Given the description of an element on the screen output the (x, y) to click on. 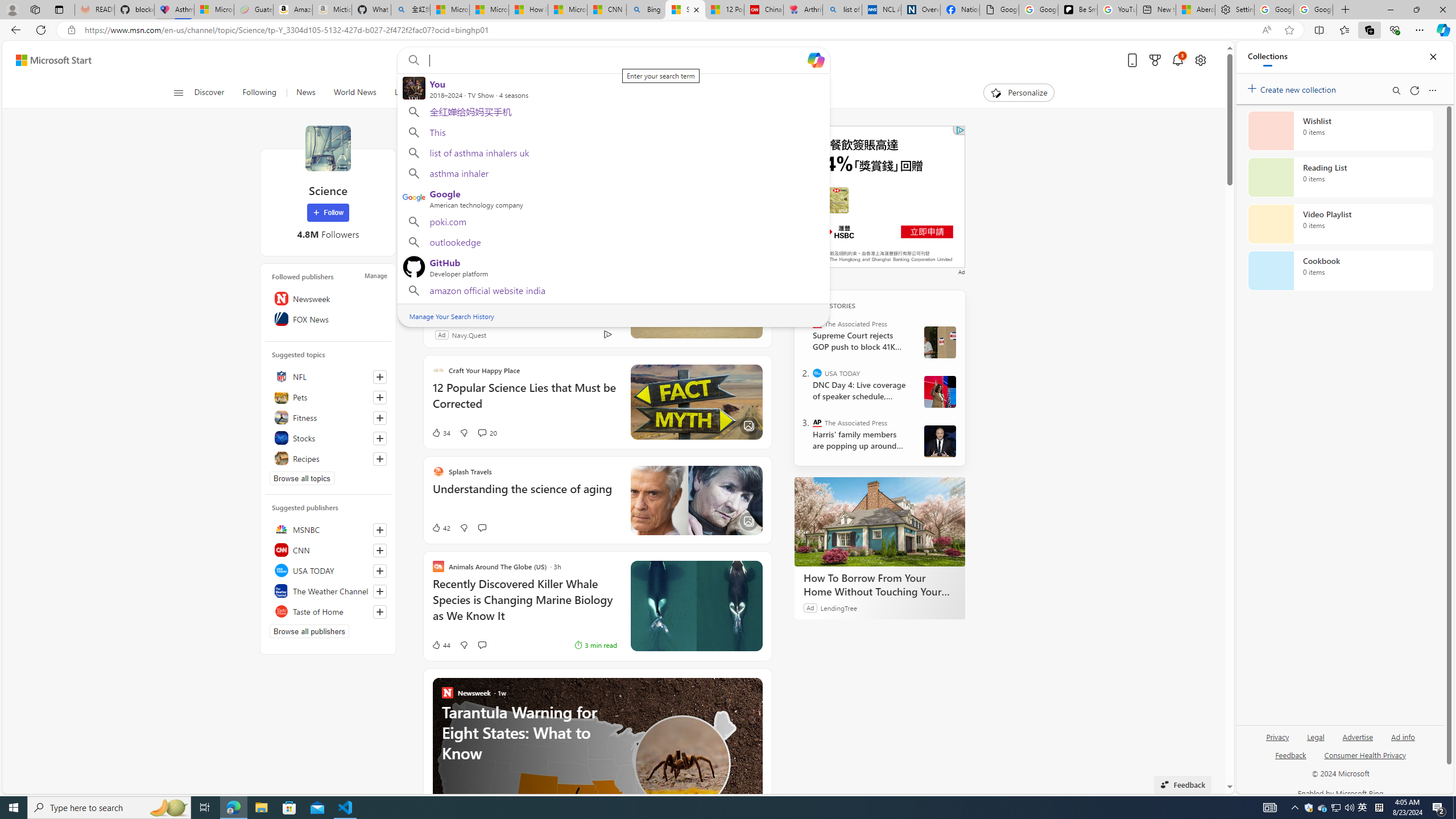
More options menu (1432, 90)
Consumer Health Privacy (1364, 754)
Reading List collection, 0 items (1339, 177)
Arthritis: Ask Health Professionals (802, 9)
Legal (1315, 736)
Ad info (1402, 741)
Microsoft-Report a Concern to Bing (213, 9)
Consumer Health Privacy (1364, 759)
